Given the description of an element on the screen output the (x, y) to click on. 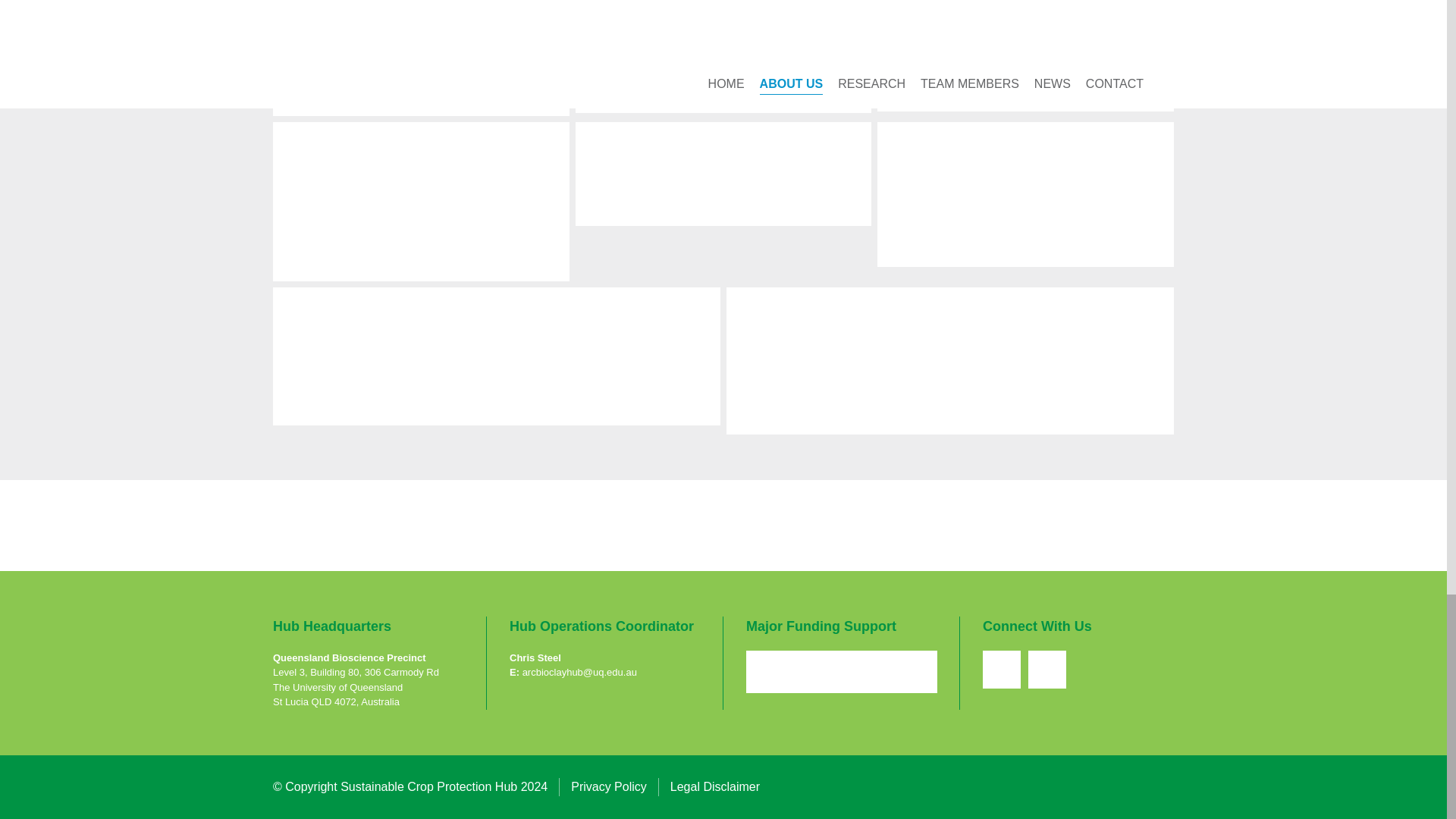
Privacy Policy (608, 787)
Legal Disclaimer (714, 787)
